Given the description of an element on the screen output the (x, y) to click on. 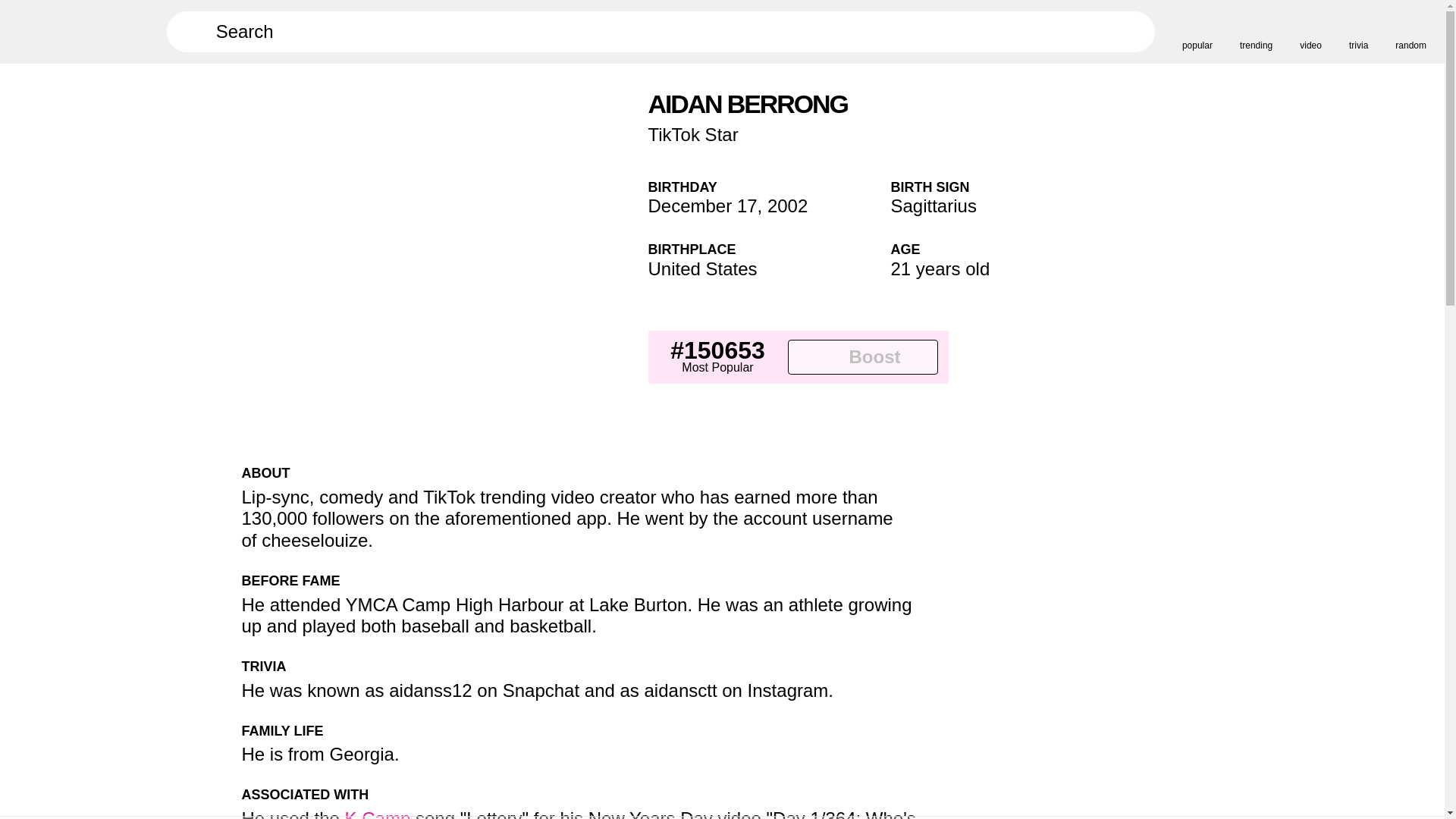
random (1410, 31)
December 17 (702, 205)
United States (702, 268)
Boost (862, 356)
video (1311, 31)
video (1311, 31)
Sagittarius (932, 205)
Send Suggestion (932, 479)
trivia (1358, 31)
2002 (787, 205)
trending (1256, 31)
popular (1197, 31)
K Camp (377, 813)
popular (1197, 31)
trivia (1358, 31)
